Given the description of an element on the screen output the (x, y) to click on. 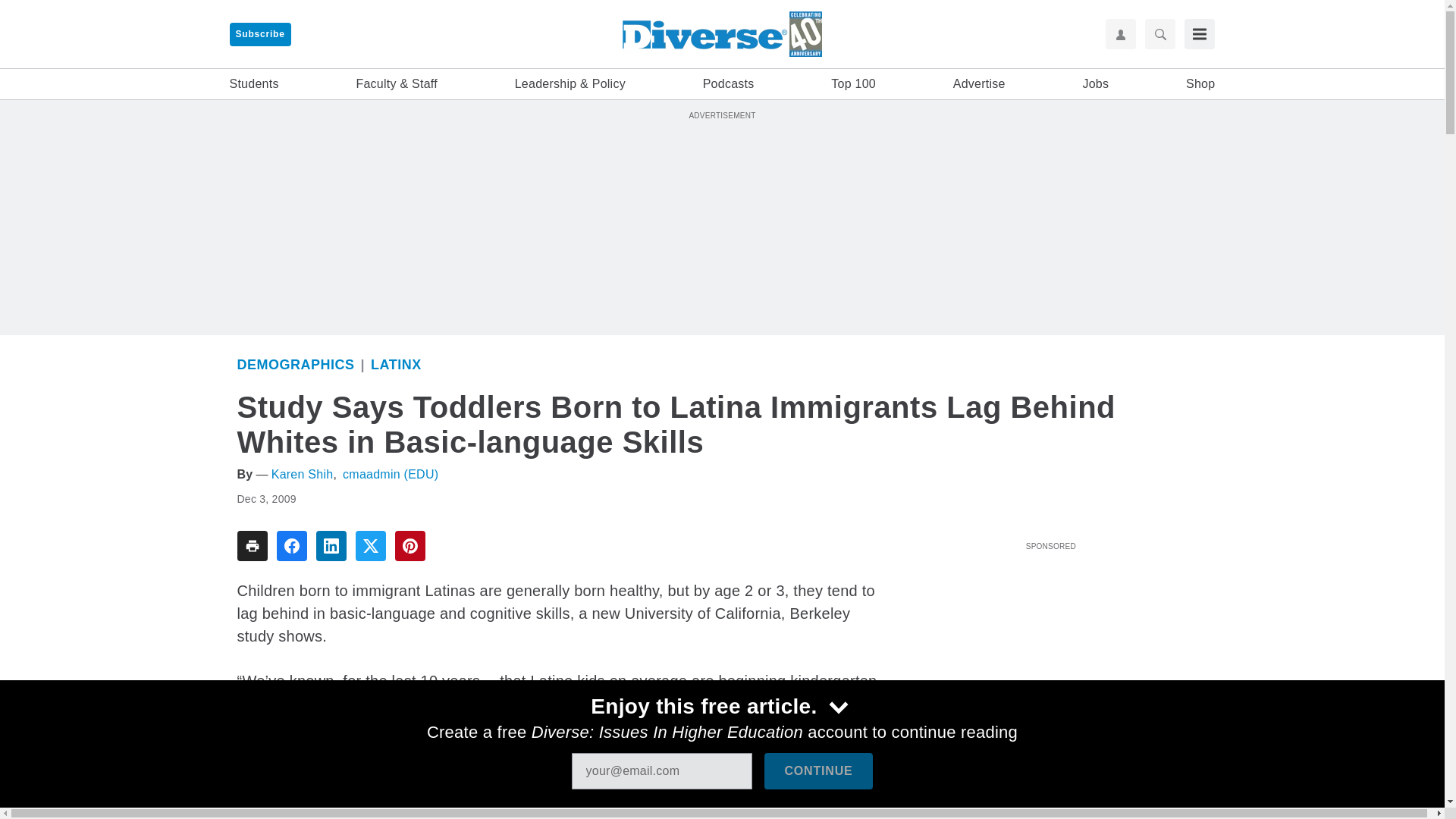
Share To facebook (290, 545)
Share To linkedin (330, 545)
Subscribe (258, 33)
Latinx (396, 364)
Share To twitter (370, 545)
Share To print (250, 545)
Jobs (1094, 84)
Share To pinterest (409, 545)
Top 100 (853, 84)
Advertise (979, 84)
